Given the description of an element on the screen output the (x, y) to click on. 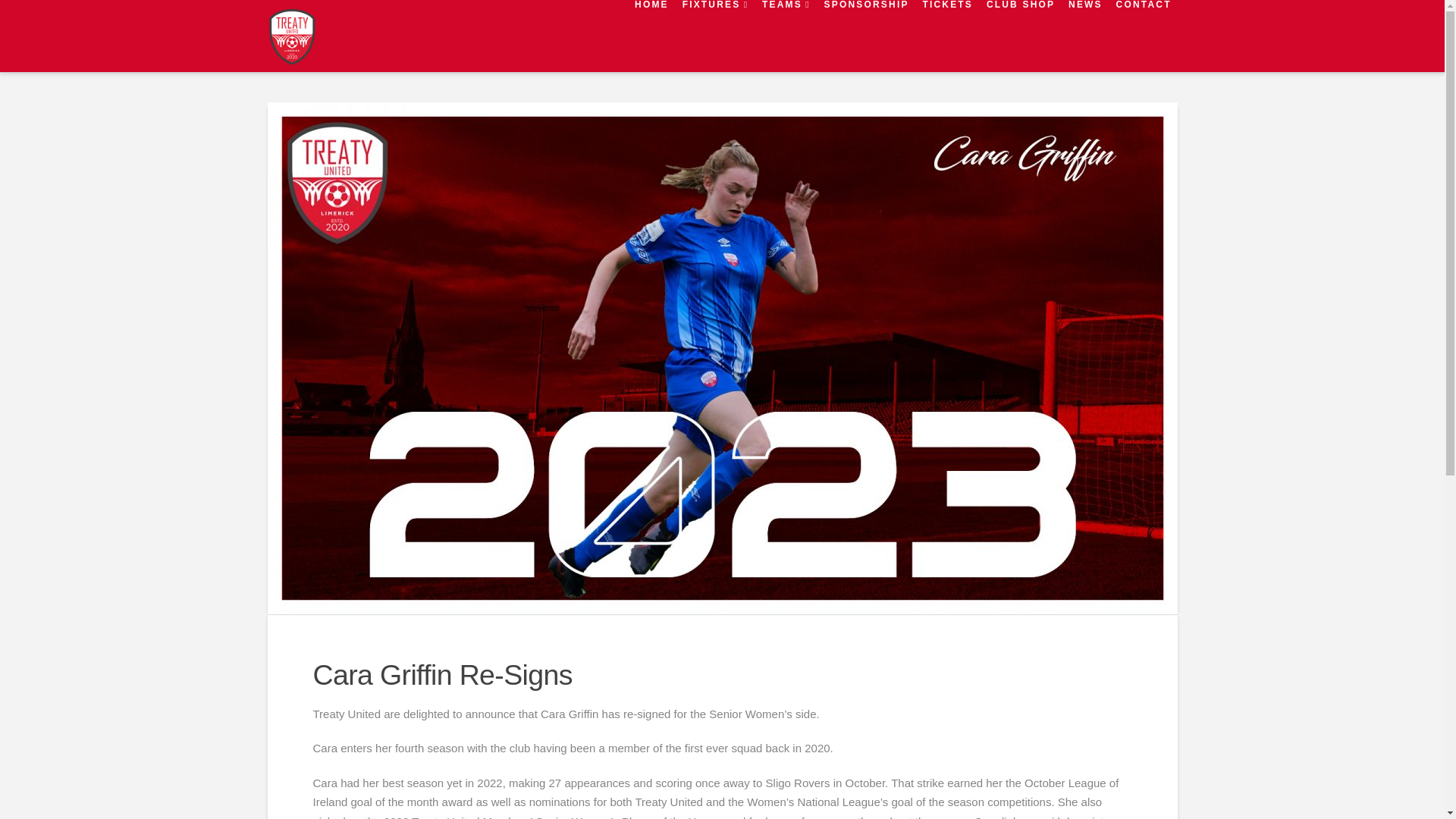
CLUB SHOP (1019, 36)
CONTACT (1142, 36)
FIXTURES (714, 36)
SPONSORSHIP (865, 36)
